Given the description of an element on the screen output the (x, y) to click on. 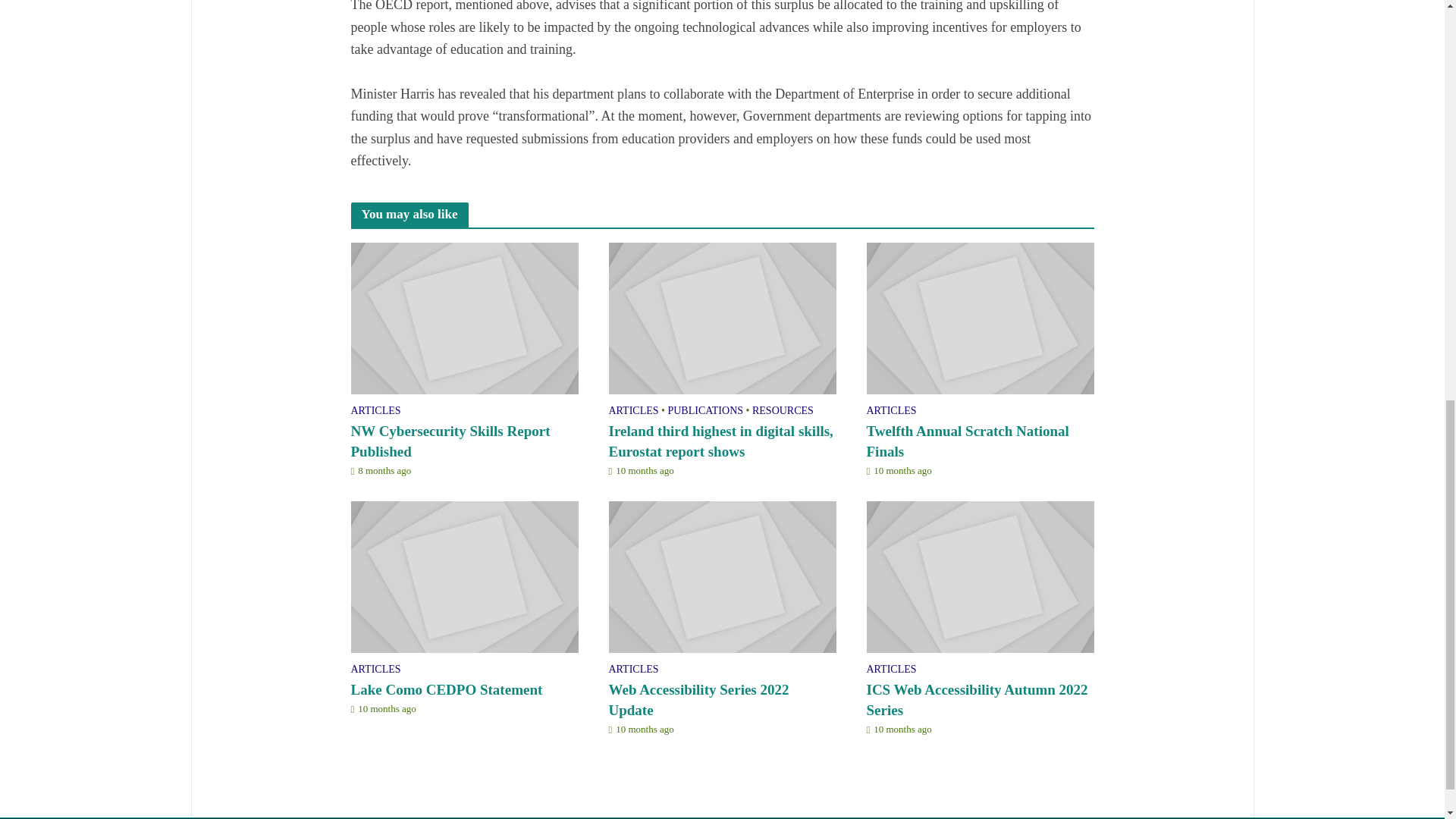
ARTICLES (375, 412)
NW Cybersecurity Skills Report Published (464, 317)
ARTICLES (633, 412)
NW Cybersecurity Skills Report Published (464, 441)
PUBLICATIONS (704, 412)
Twelfth Annual Scratch National Finals (979, 317)
Web Accessibility Series 2022 Update (721, 575)
Lake Como CEDPO Statement (464, 575)
ICS Web Accessibility Autumn 2022 Series (979, 575)
